Given the description of an element on the screen output the (x, y) to click on. 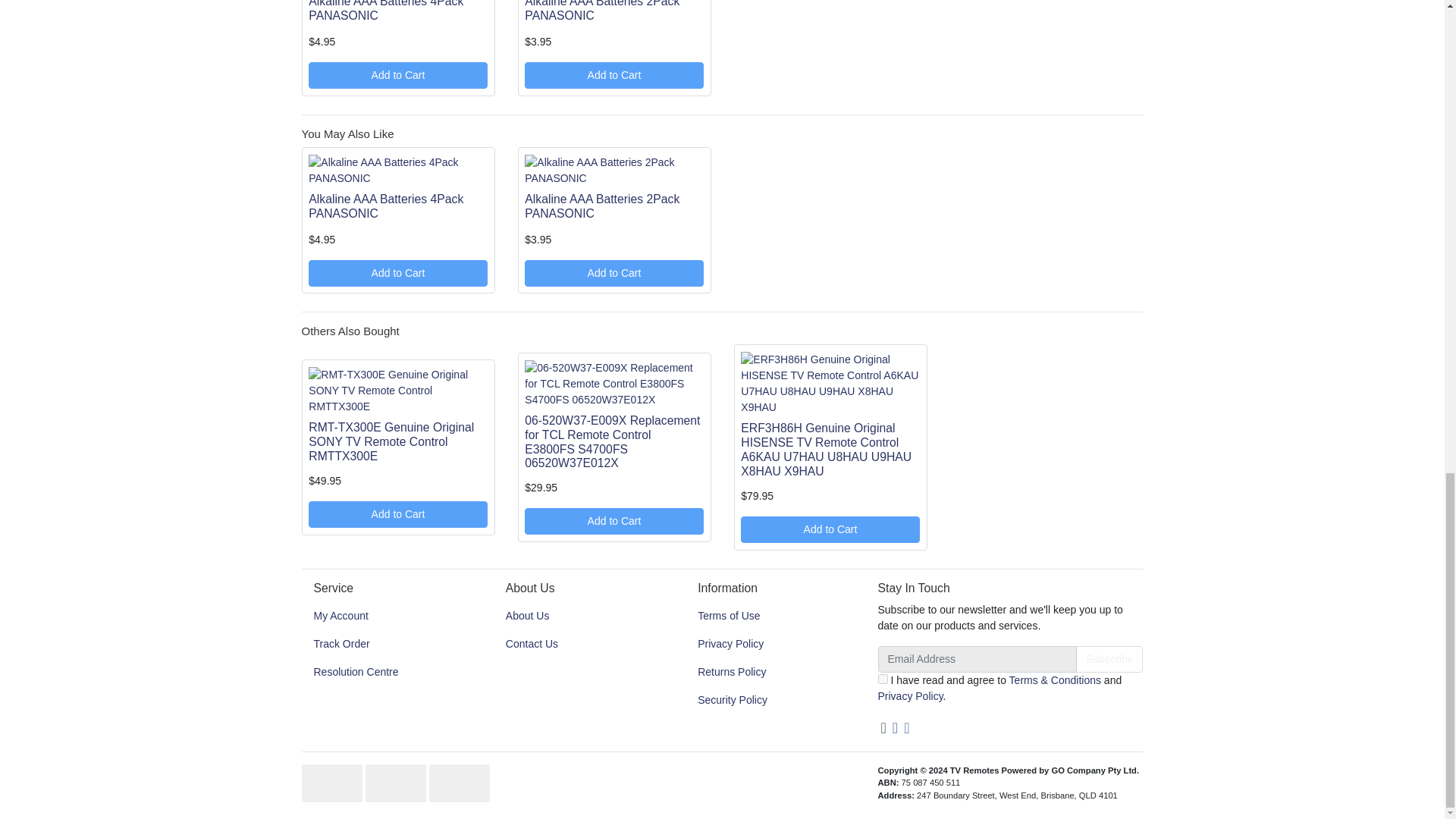
Add Alkaline AAA Batteries 2Pack PANASONIC to Cart (613, 75)
Subscribe (1108, 659)
Add Alkaline AAA Batteries 4Pack PANASONIC to Cart (397, 273)
y (882, 678)
Add Alkaline AAA Batteries 4Pack PANASONIC to Cart (397, 75)
Add Alkaline AAA Batteries 2Pack PANASONIC to Cart (613, 273)
